Given the description of an element on the screen output the (x, y) to click on. 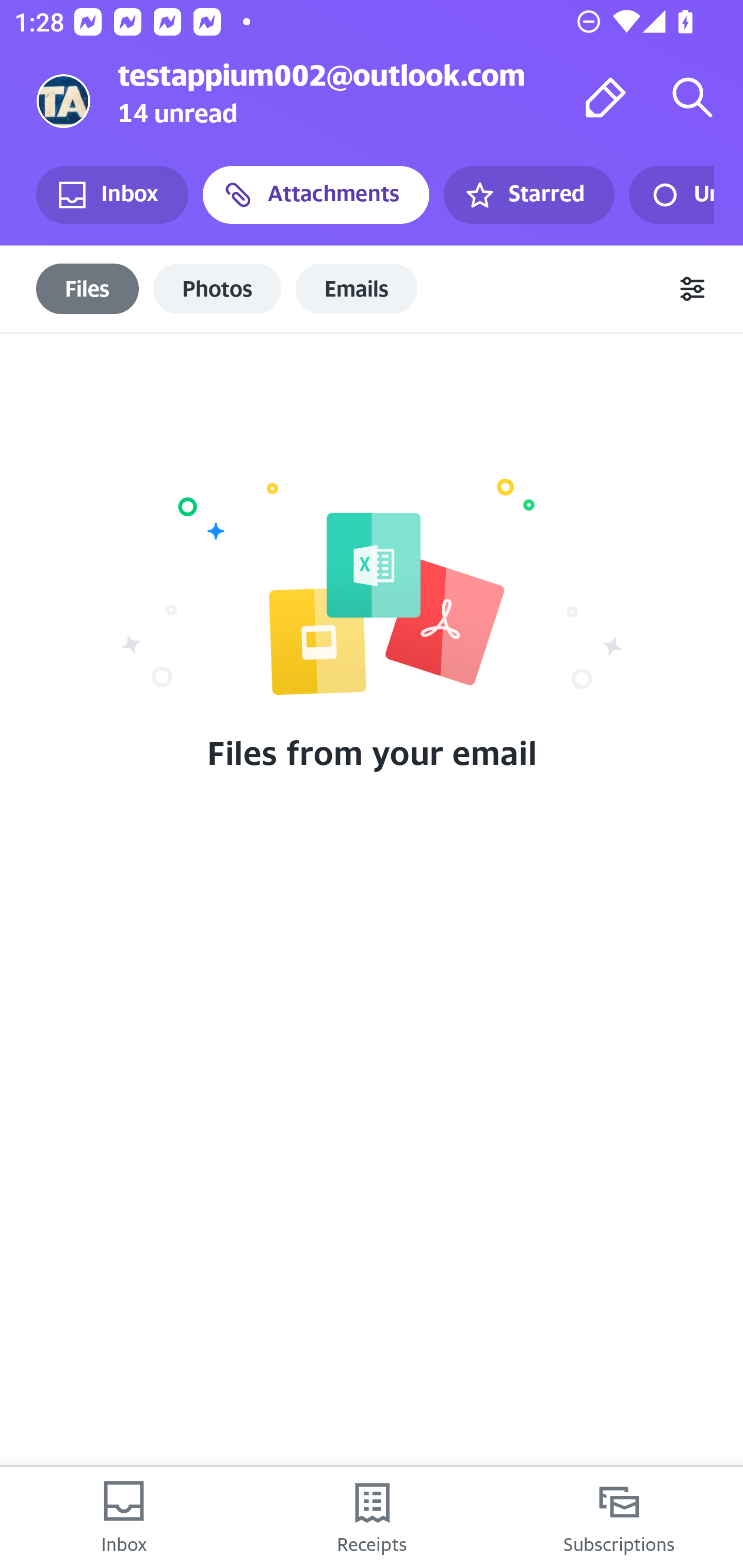
Compose (605, 97)
Search mail (692, 97)
Inbox (111, 195)
Starred (528, 195)
Show or hide more attachment filters (692, 289)
Files (87, 288)
Photos (216, 288)
Emails (356, 288)
Inbox (123, 1517)
Receipts (371, 1517)
Subscriptions (619, 1517)
